Given the description of an element on the screen output the (x, y) to click on. 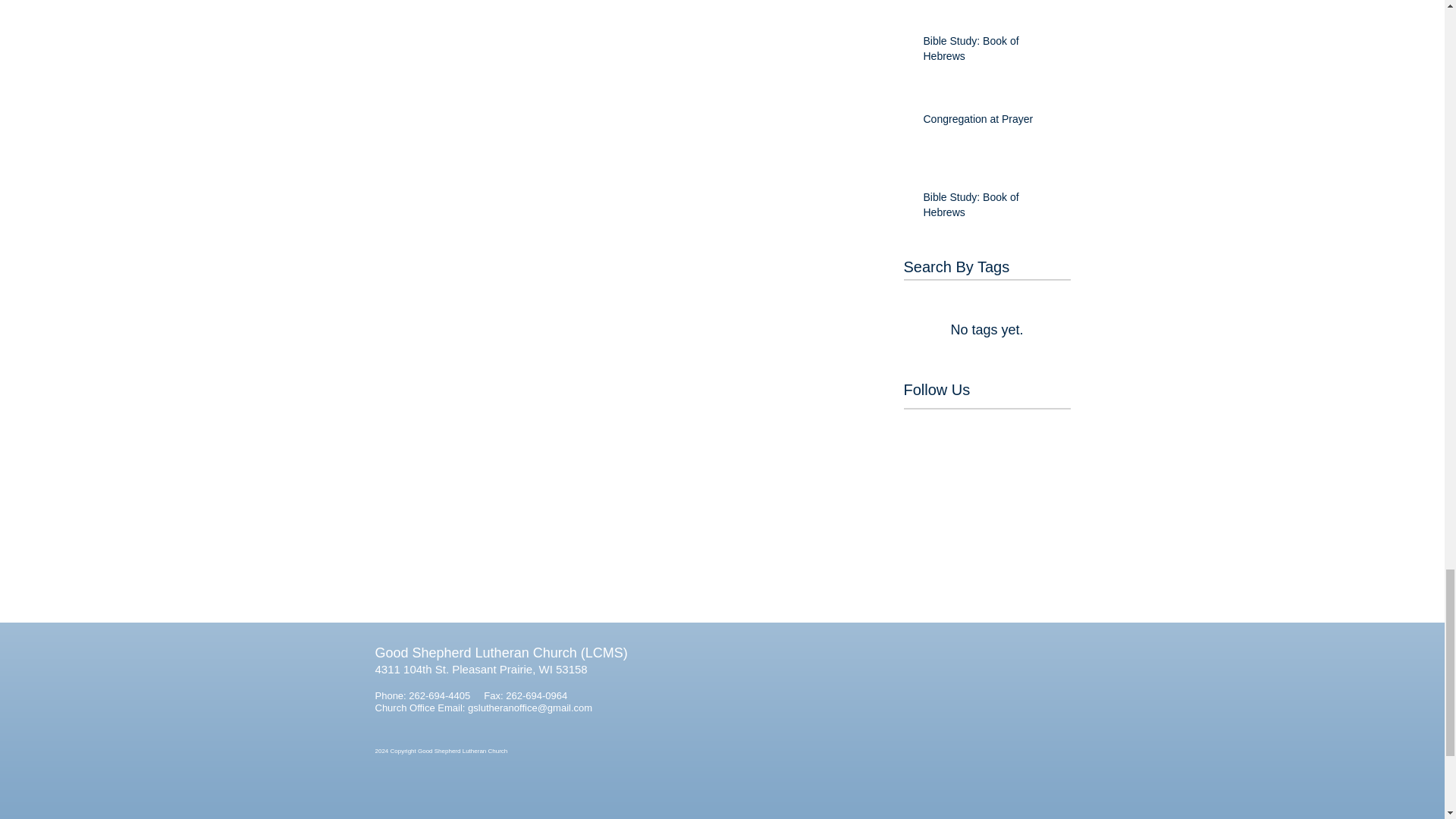
Bible Study: Book of Hebrews (992, 208)
Congregation at Prayer (992, 122)
Bible Study: Book of Hebrews (992, 51)
